Given the description of an element on the screen output the (x, y) to click on. 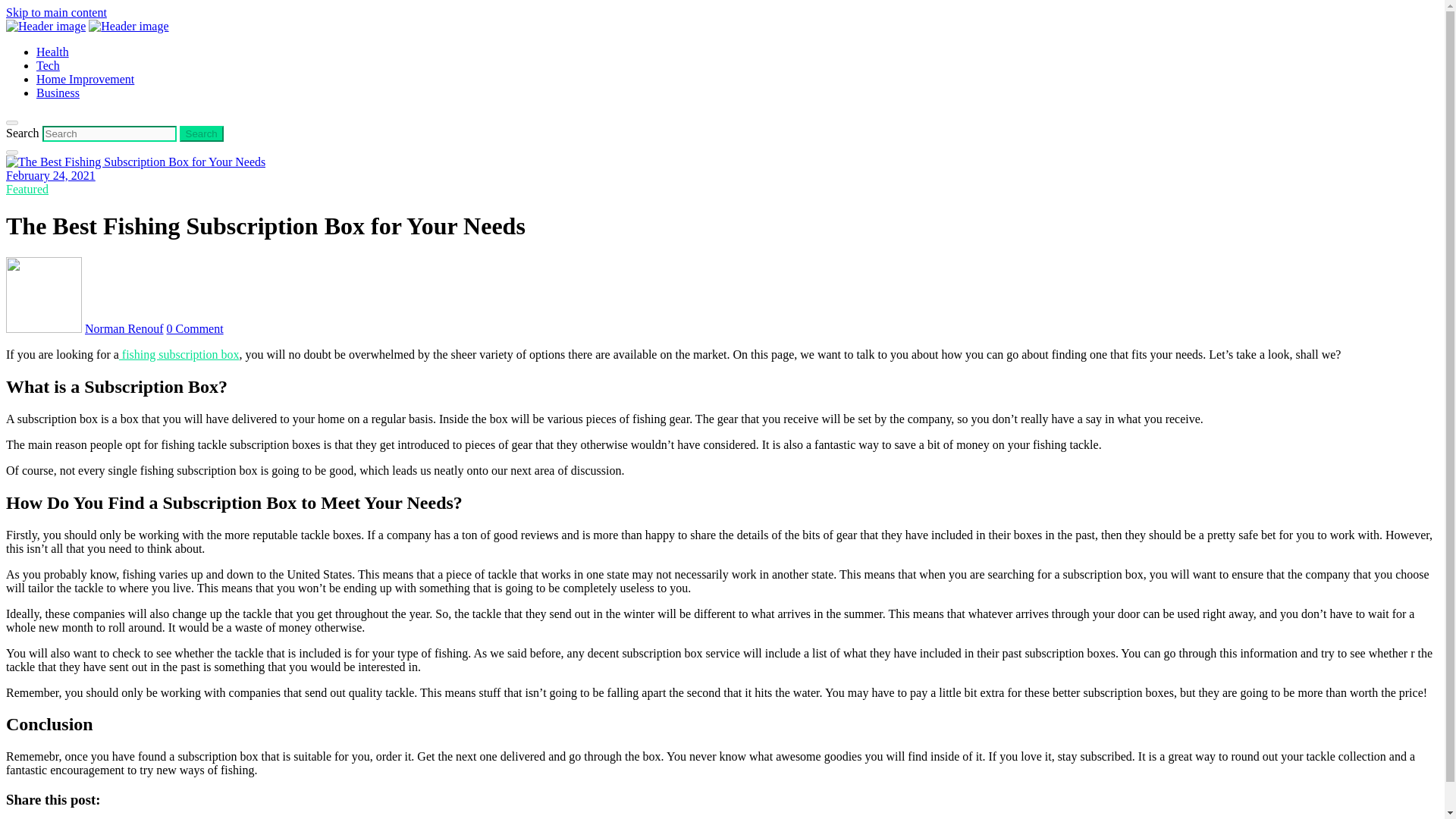
Search (201, 133)
0 Comment (195, 328)
February 24, 2021 (50, 174)
Norman Renouf (123, 328)
Home Improvement (84, 78)
 fishing subscription box (179, 354)
Tech (47, 65)
The Best Fishing Subscription Box for Your Needs (134, 161)
Health (52, 51)
Business (58, 92)
